Given the description of an element on the screen output the (x, y) to click on. 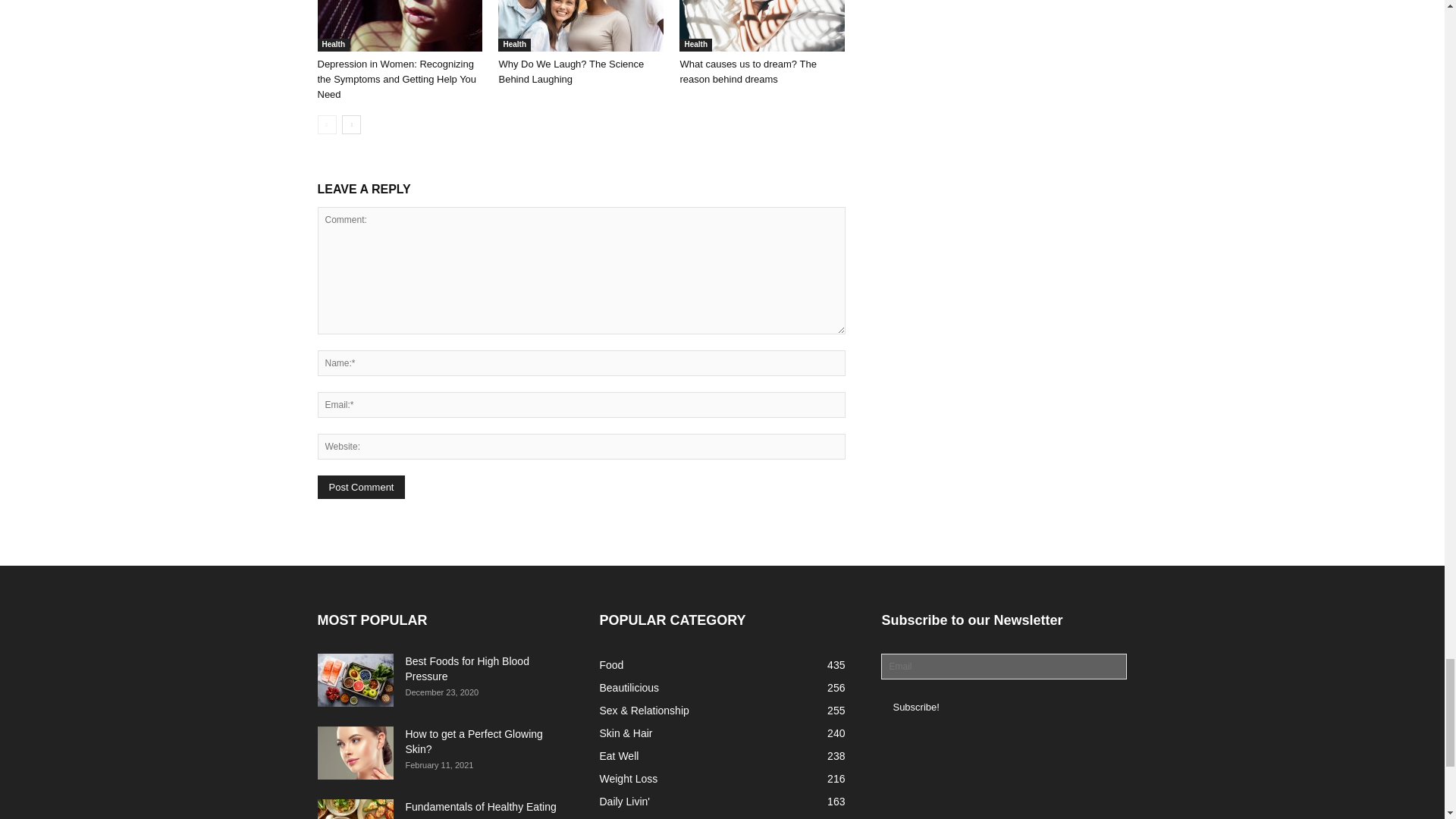
Post Comment (360, 486)
Subscribe! (915, 707)
